Given the description of an element on the screen output the (x, y) to click on. 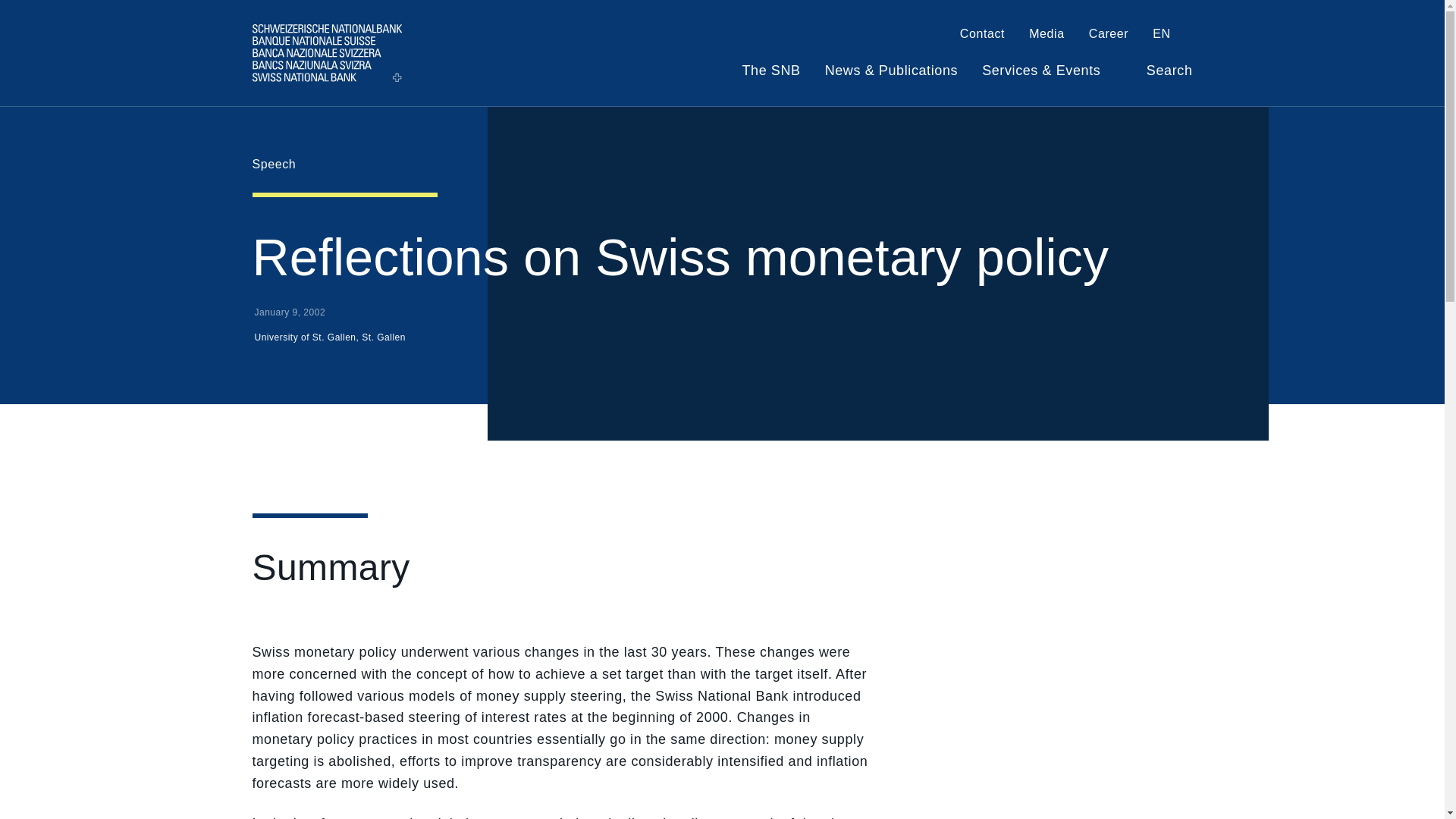
Logo (326, 52)
The SNB (770, 77)
EN (1172, 36)
Career (1109, 36)
Contact (981, 36)
Media (1046, 36)
